Given the description of an element on the screen output the (x, y) to click on. 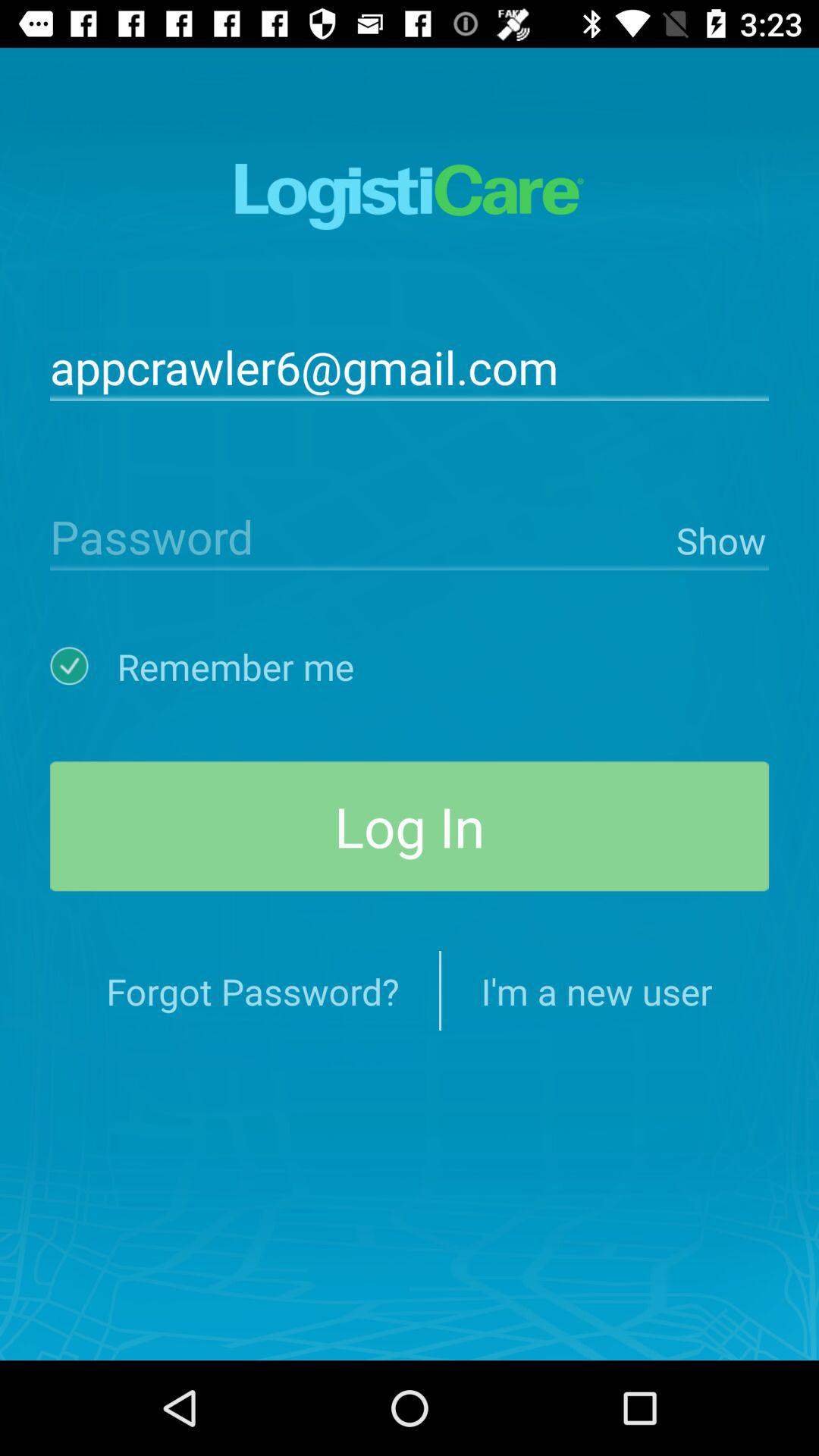
launch the icon below log in item (596, 990)
